Given the description of an element on the screen output the (x, y) to click on. 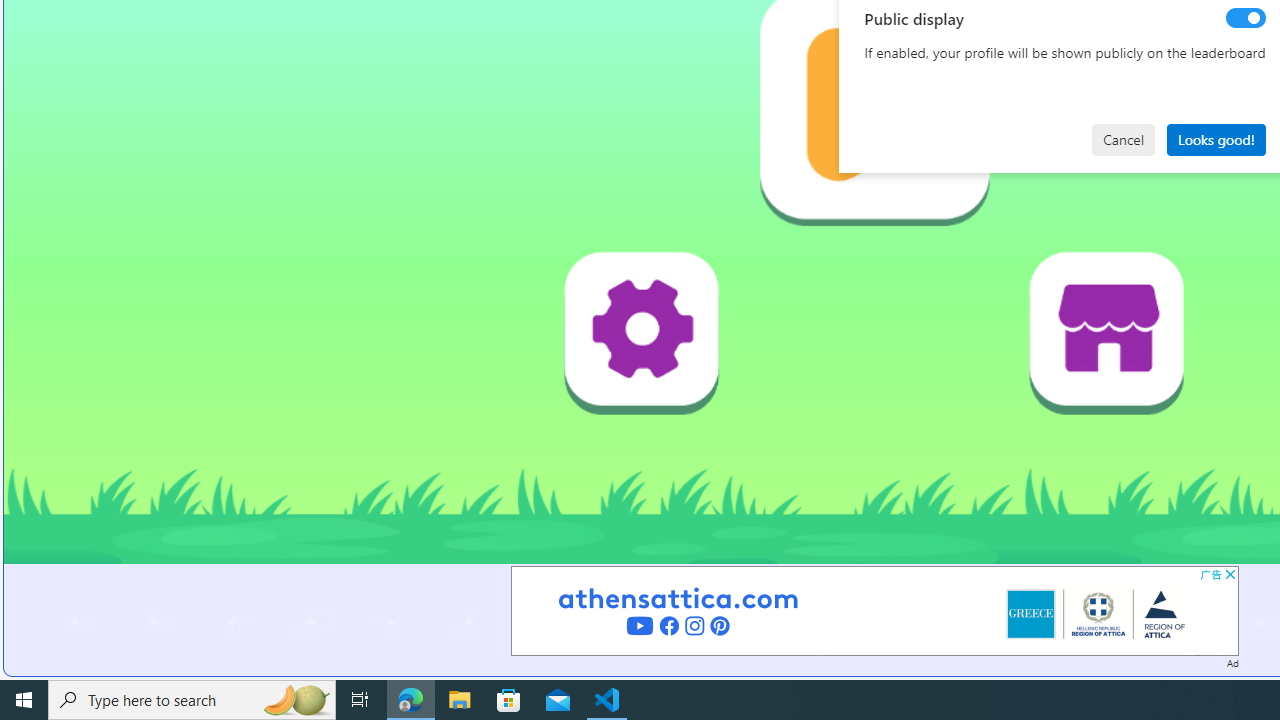
Looks good! (1216, 139)
AutomationID: cbb (1229, 574)
Advertisement (874, 610)
Advertisement (874, 610)
Cancel (1123, 139)
